Given the description of an element on the screen output the (x, y) to click on. 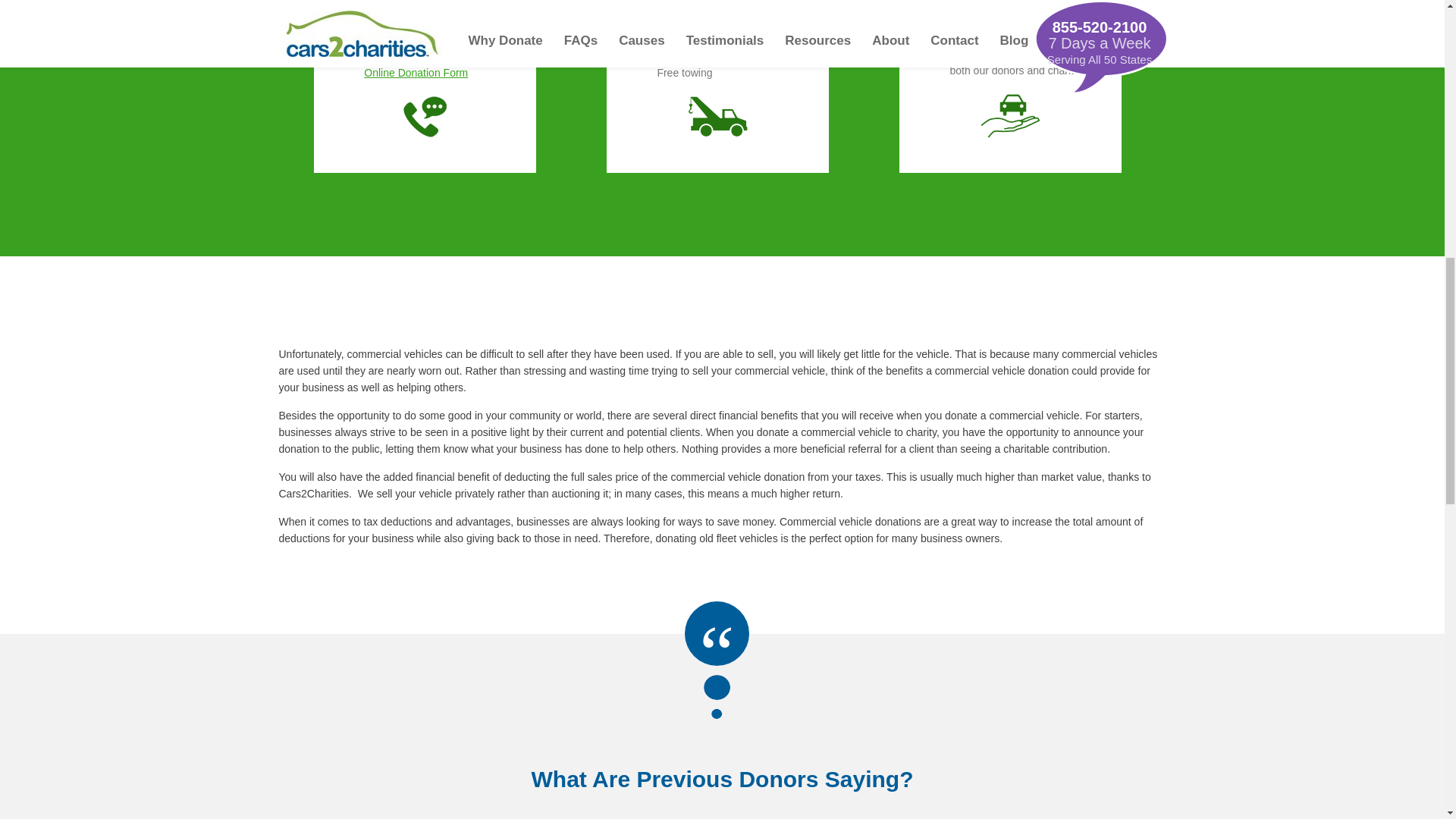
2 (611, 7)
1 (318, 7)
Online Donation Form (415, 72)
3 (904, 7)
